Given the description of an element on the screen output the (x, y) to click on. 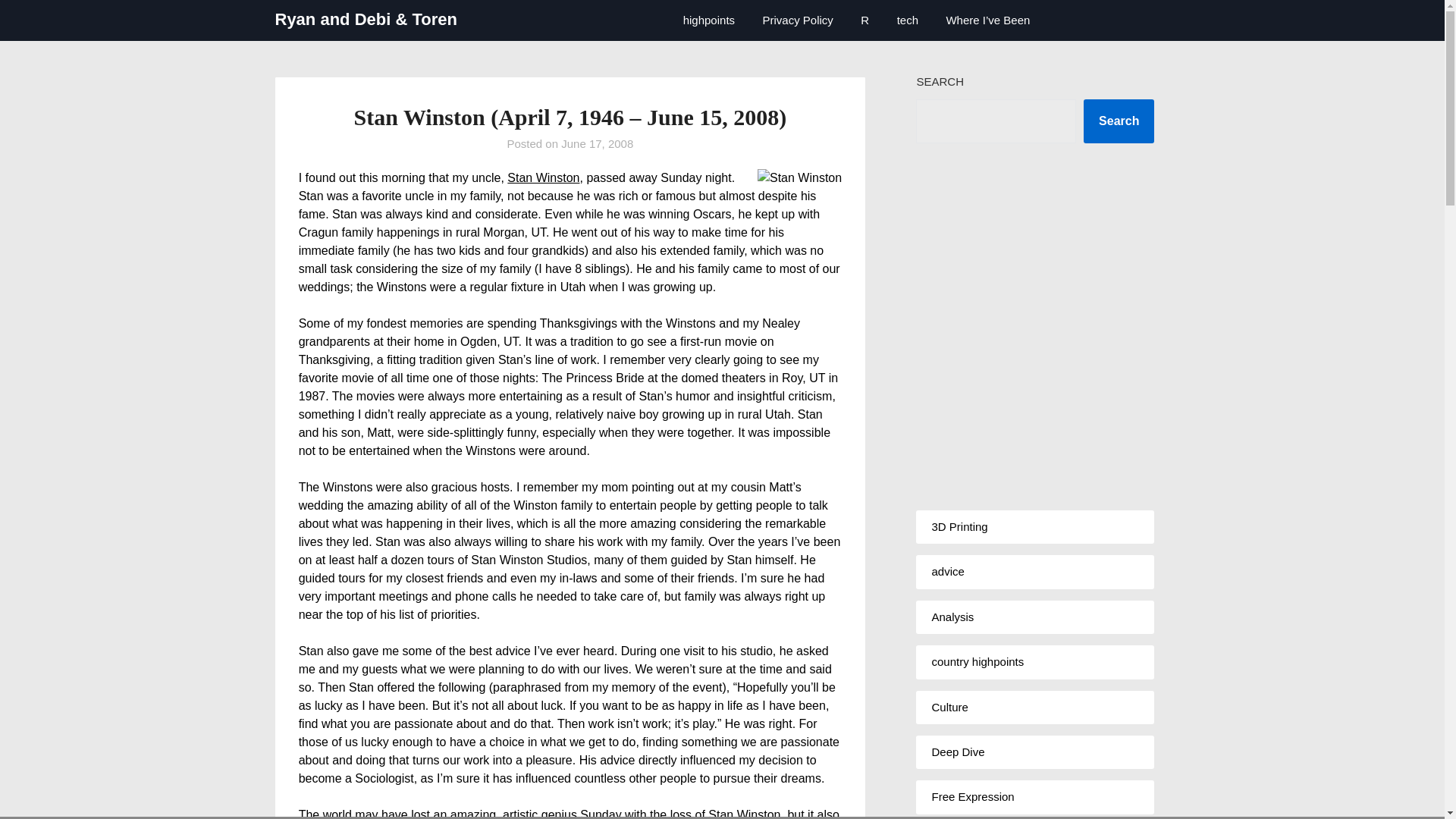
Deep Dive (957, 751)
June 17, 2008 (596, 143)
Analysis (952, 616)
Free Expression (972, 796)
Stan Winston (542, 177)
Search (1118, 121)
3D Printing (959, 526)
country highpoints (977, 661)
highpoints (708, 20)
Privacy Policy (798, 20)
tech (907, 20)
Culture (949, 707)
advice (947, 571)
